Given the description of an element on the screen output the (x, y) to click on. 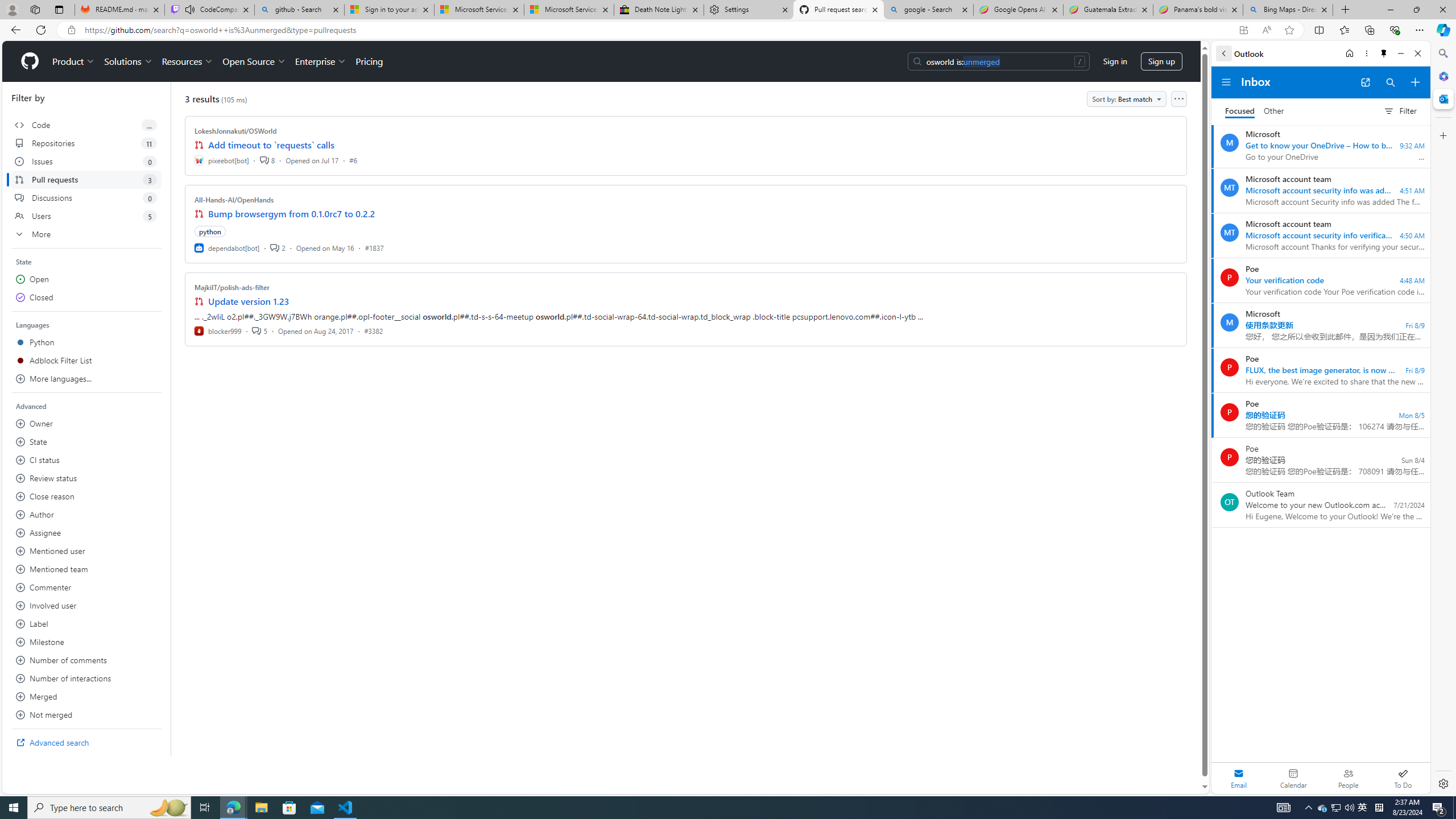
Focused (1239, 110)
People (1347, 777)
2 (277, 247)
pixeebot[bot] (221, 159)
5 (259, 330)
Sort by: Best match (1126, 98)
